Given the description of an element on the screen output the (x, y) to click on. 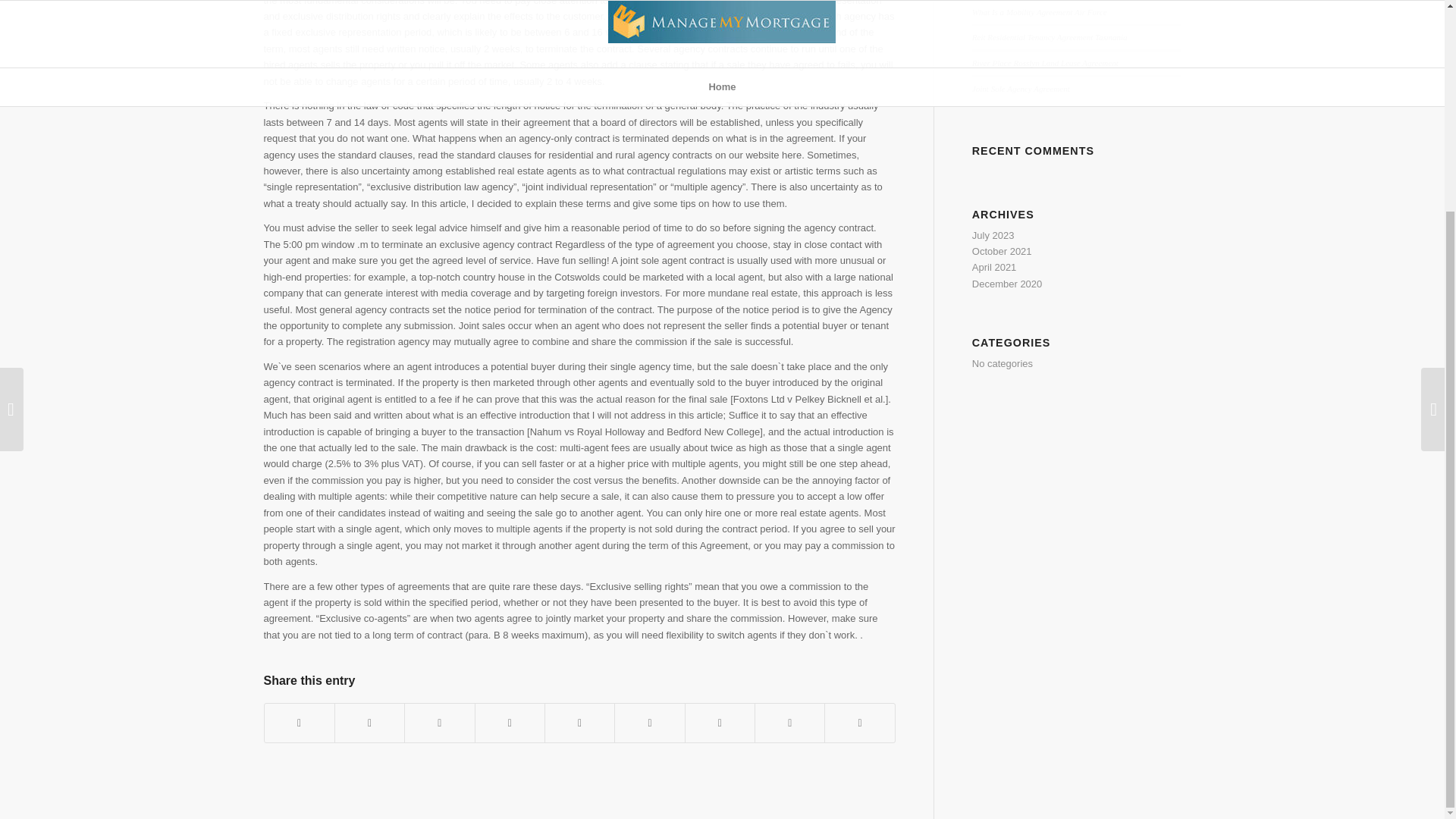
Joint Sole Agency Agreement (1021, 88)
July 2023 (993, 235)
October 2021 (1002, 251)
December 2020 (1007, 283)
Reit Residential Tenancy Agreement Tasmania (1049, 36)
What Is a Mobility Agreement Air Force (1039, 11)
River Place Rosslyn Land Lease Agreement (1045, 62)
April 2021 (994, 266)
